Given the description of an element on the screen output the (x, y) to click on. 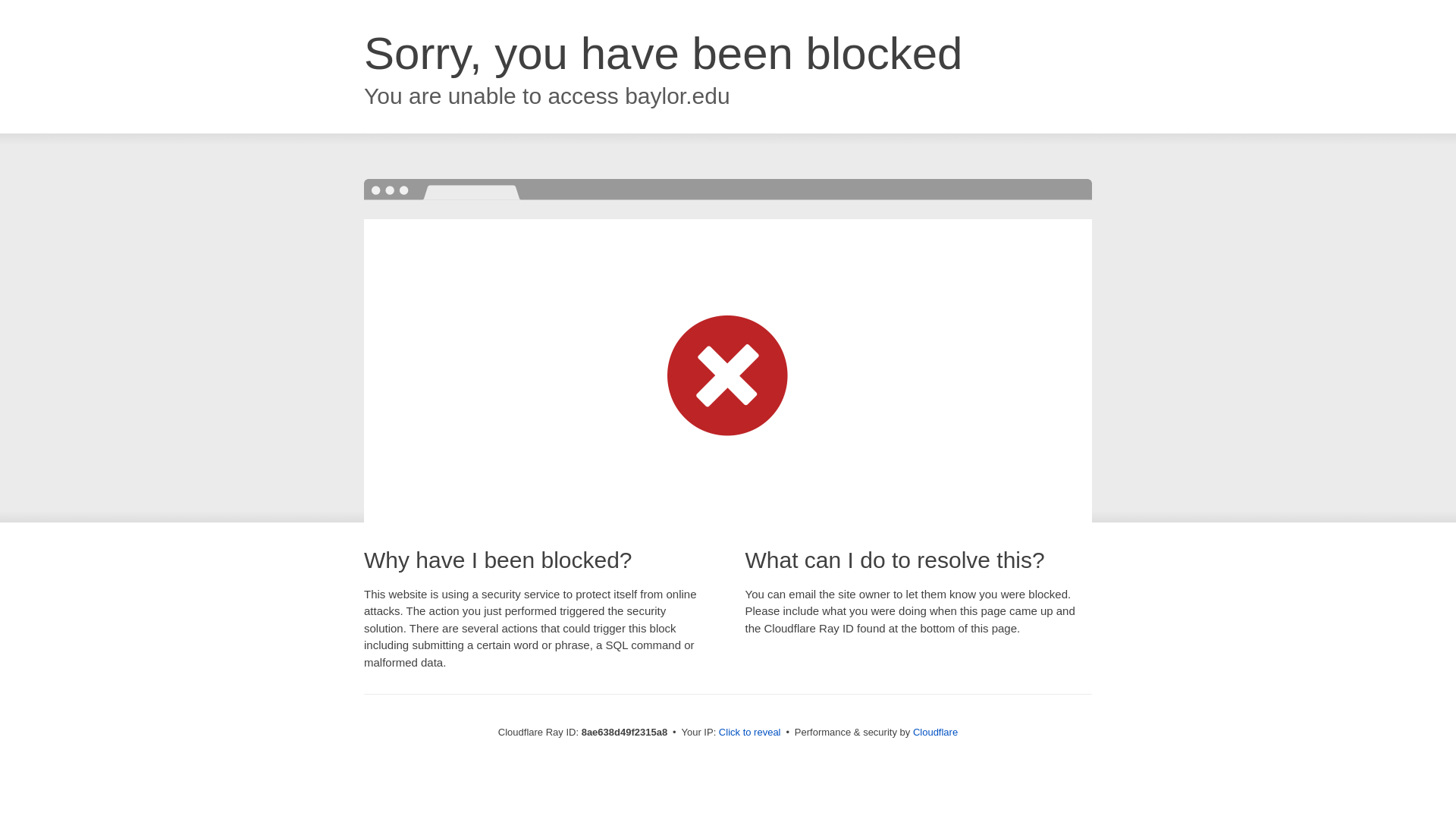
Cloudflare (935, 731)
Click to reveal (749, 732)
